Given the description of an element on the screen output the (x, y) to click on. 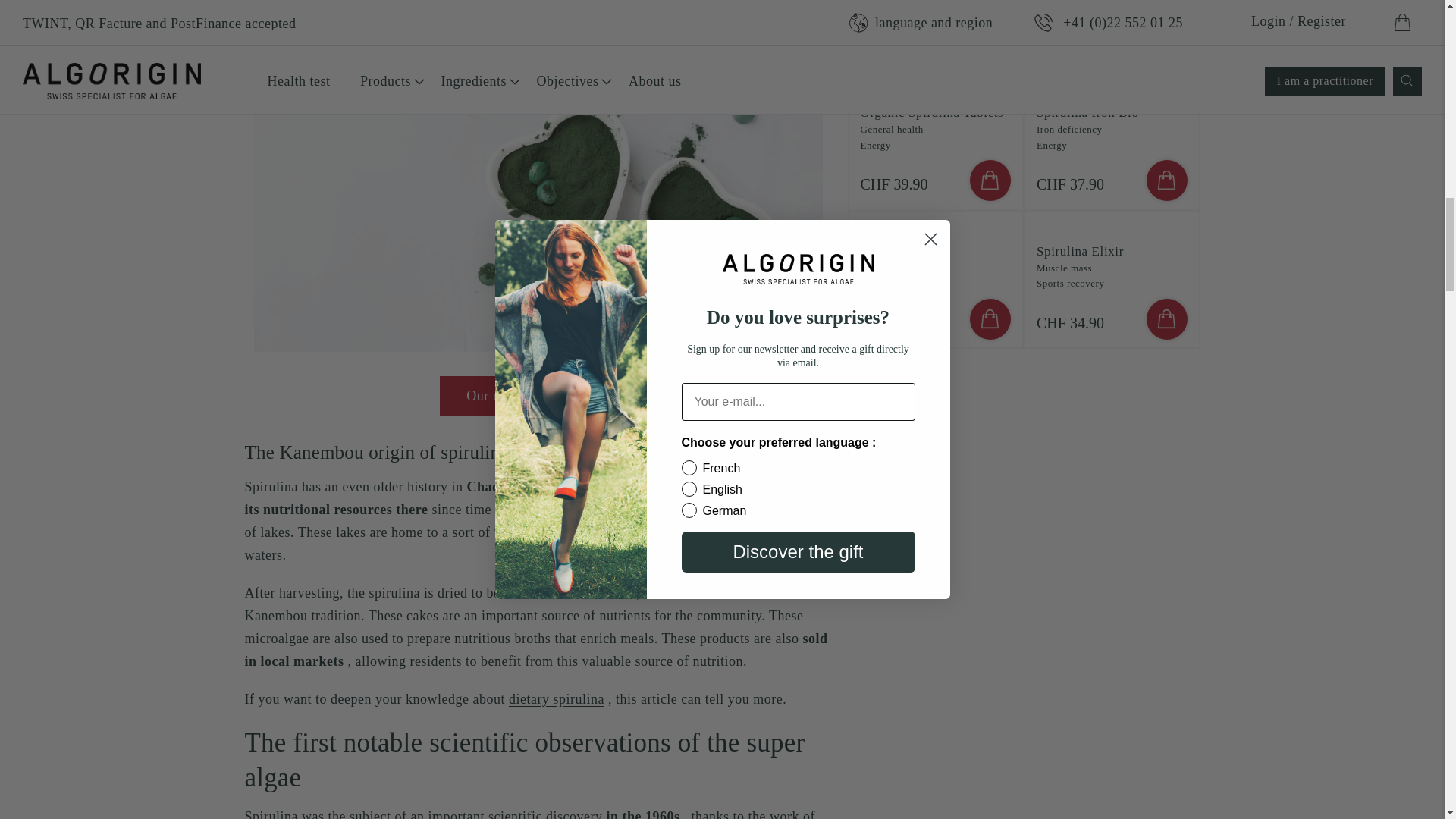
dietary spirulina (556, 698)
